Given the description of an element on the screen output the (x, y) to click on. 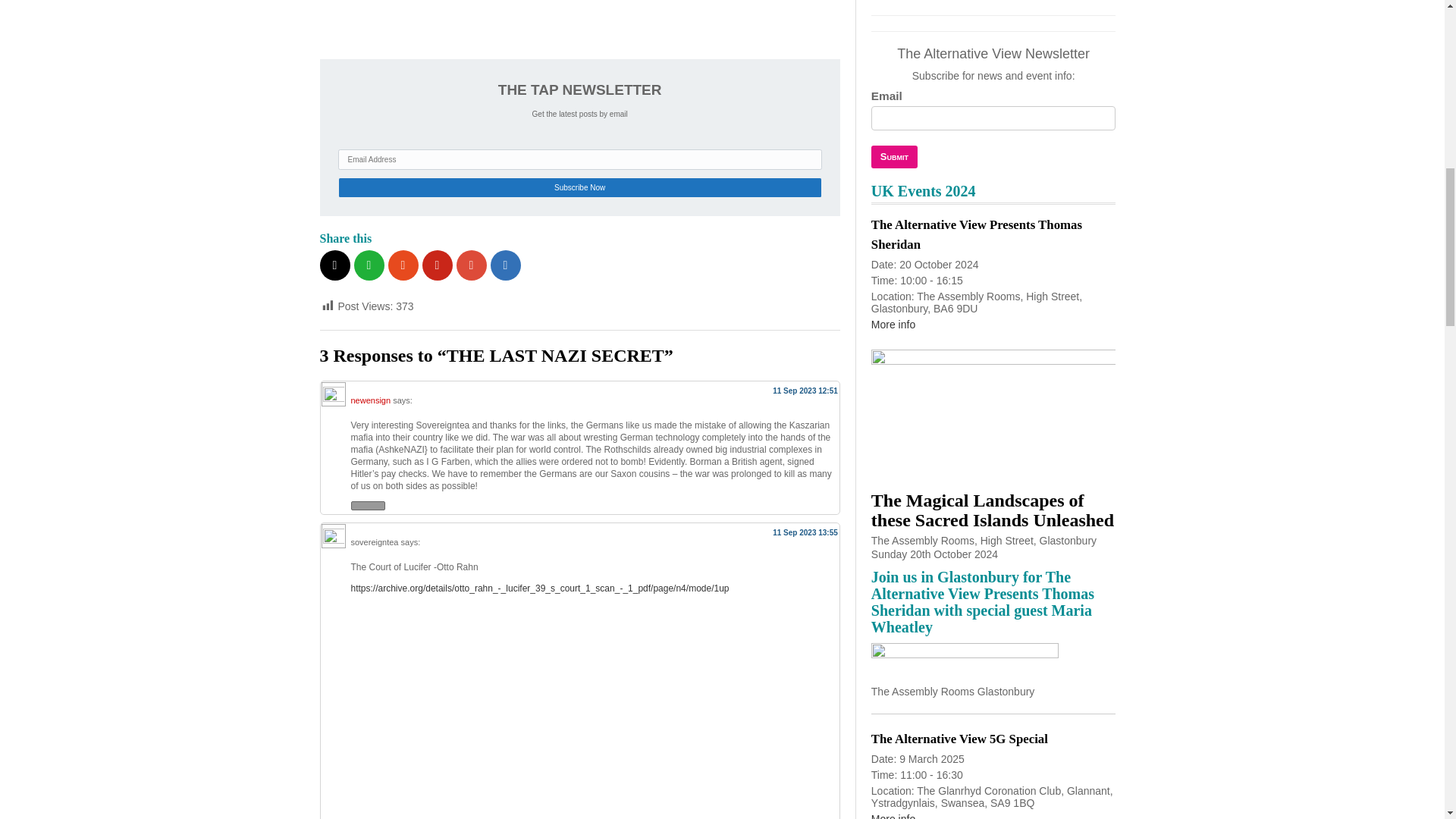
11 Sep 2023 12:51 (805, 390)
More info (892, 324)
Submit (893, 156)
11 Sep 2023 13:55 (805, 532)
newensign (370, 399)
Subscribe Now (579, 187)
Subscribe Now (579, 187)
THE LAST NAZI SECRET (509, 20)
